Given the description of an element on the screen output the (x, y) to click on. 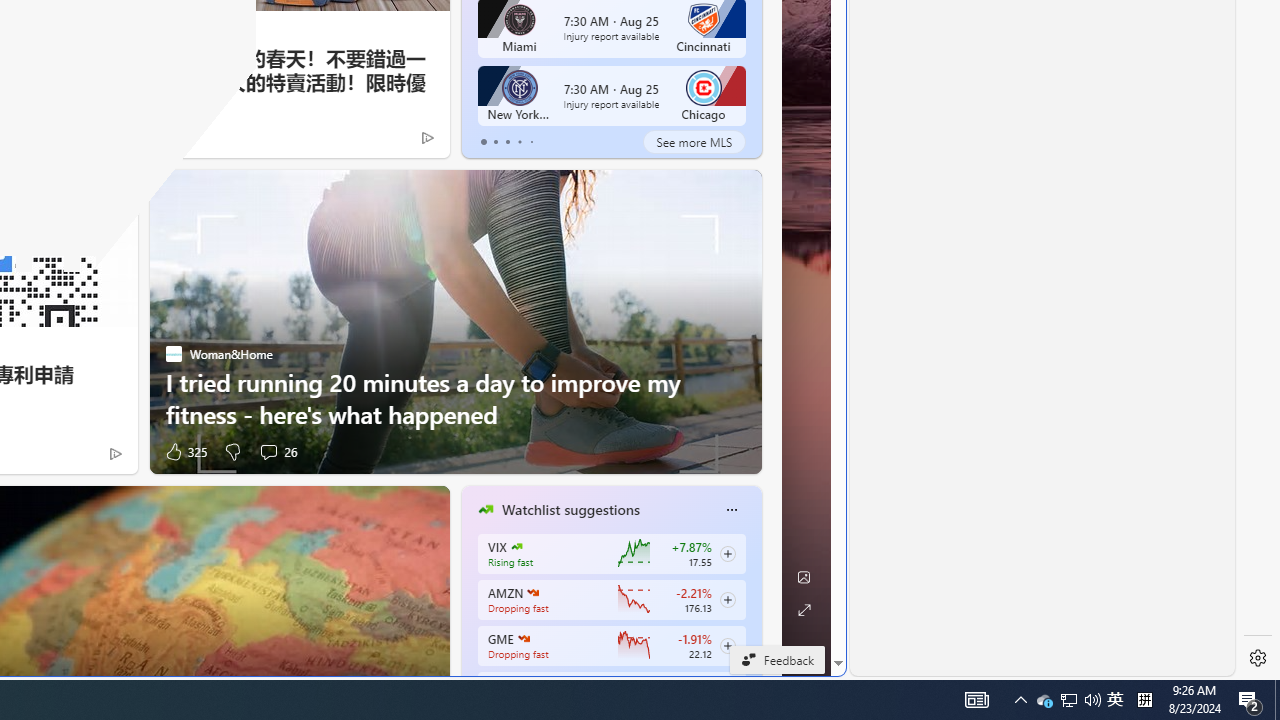
See more MLS (694, 142)
325 Like (184, 451)
tab-3 (519, 142)
You're following The Weather Channel (87, 135)
AMAZON.COM, INC. (532, 592)
View comments 26 Comment (276, 451)
tab-4 (530, 142)
CBOE Market Volatility Index (516, 546)
